Given the description of an element on the screen output the (x, y) to click on. 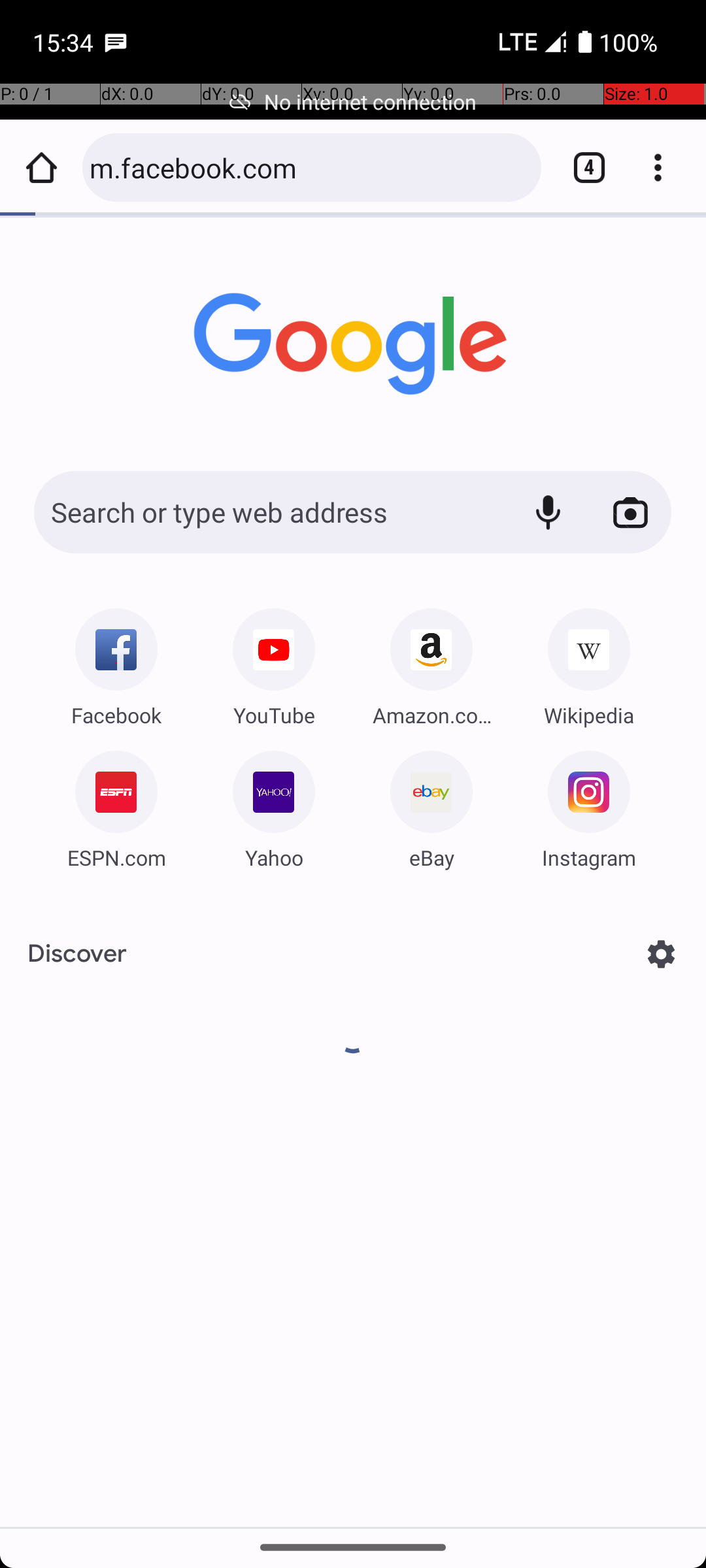
m.facebook.com Element type: android.widget.EditText (308, 167)
